Given the description of an element on the screen output the (x, y) to click on. 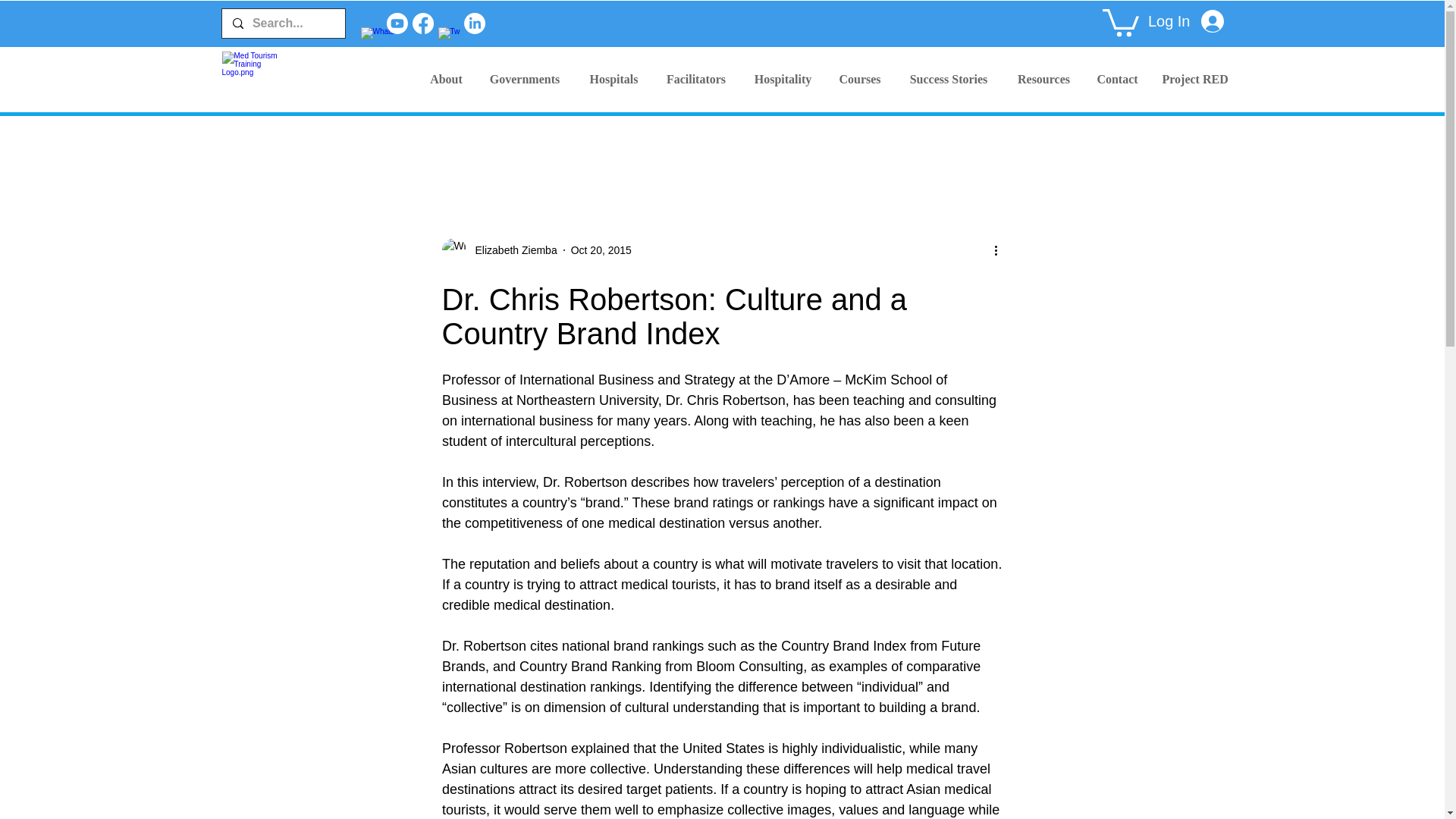
Hospitality (783, 79)
Oct 20, 2015 (600, 250)
Governments (524, 79)
About (446, 79)
Elizabeth Ziemba (510, 250)
Facilitators (695, 79)
Hospitals (613, 79)
Log In (1203, 21)
